Given the description of an element on the screen output the (x, y) to click on. 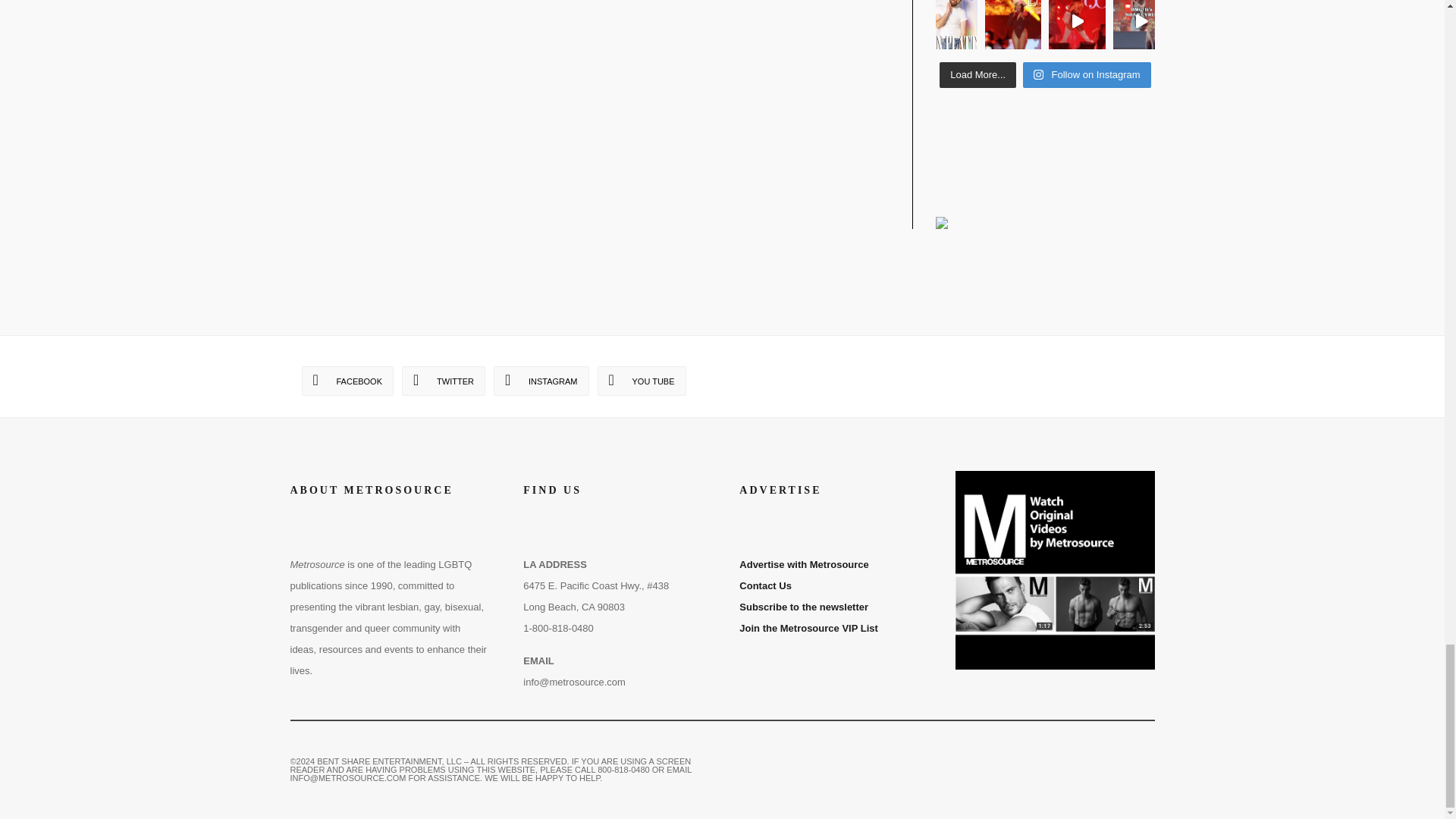
Facebook (347, 380)
Metrosource Advertising Information (804, 564)
Twitter (442, 380)
You Tube (640, 380)
Instagram (541, 380)
